Given the description of an element on the screen output the (x, y) to click on. 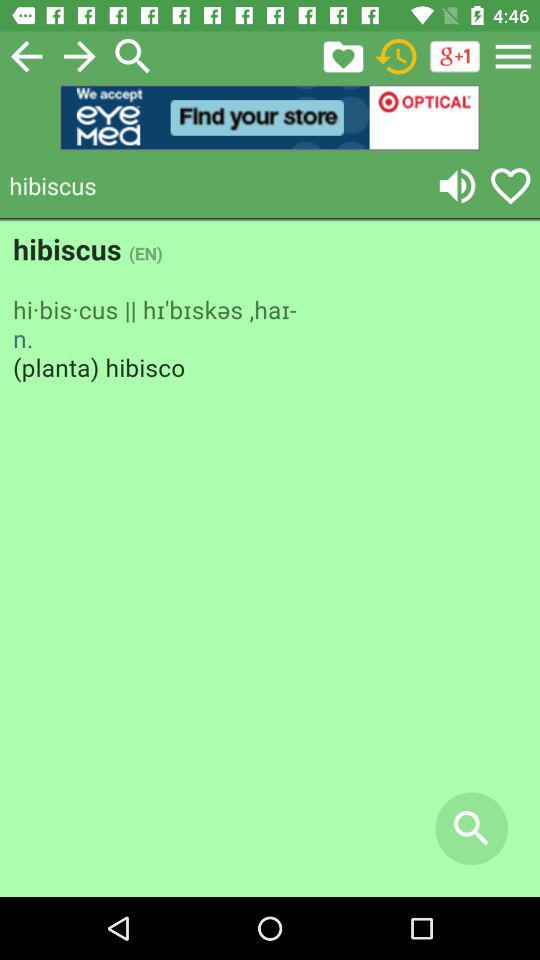
save translated words (510, 185)
